Given the description of an element on the screen output the (x, y) to click on. 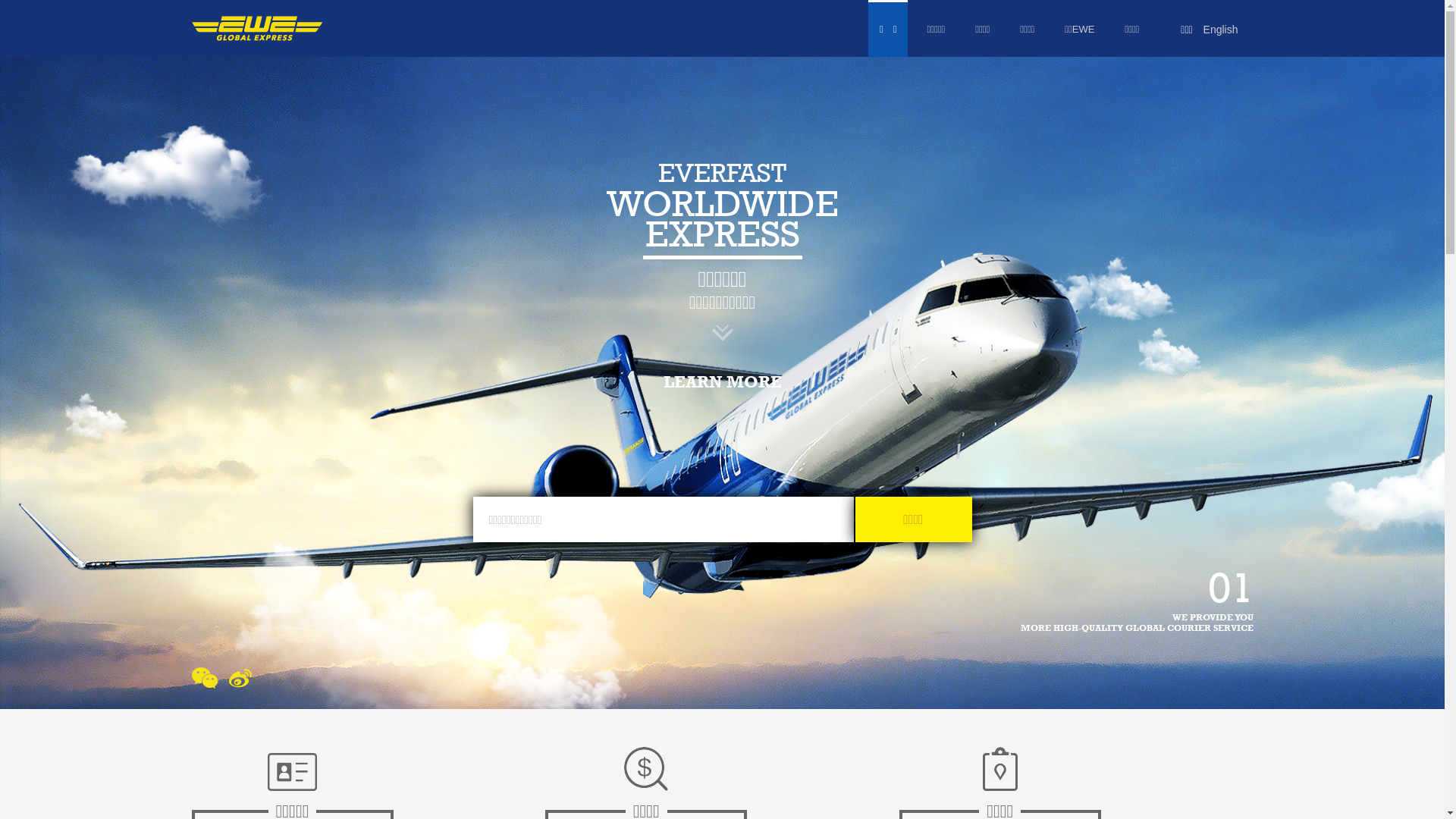
LEARN MORE Element type: text (721, 381)
English Element type: text (1220, 29)
